Given the description of an element on the screen output the (x, y) to click on. 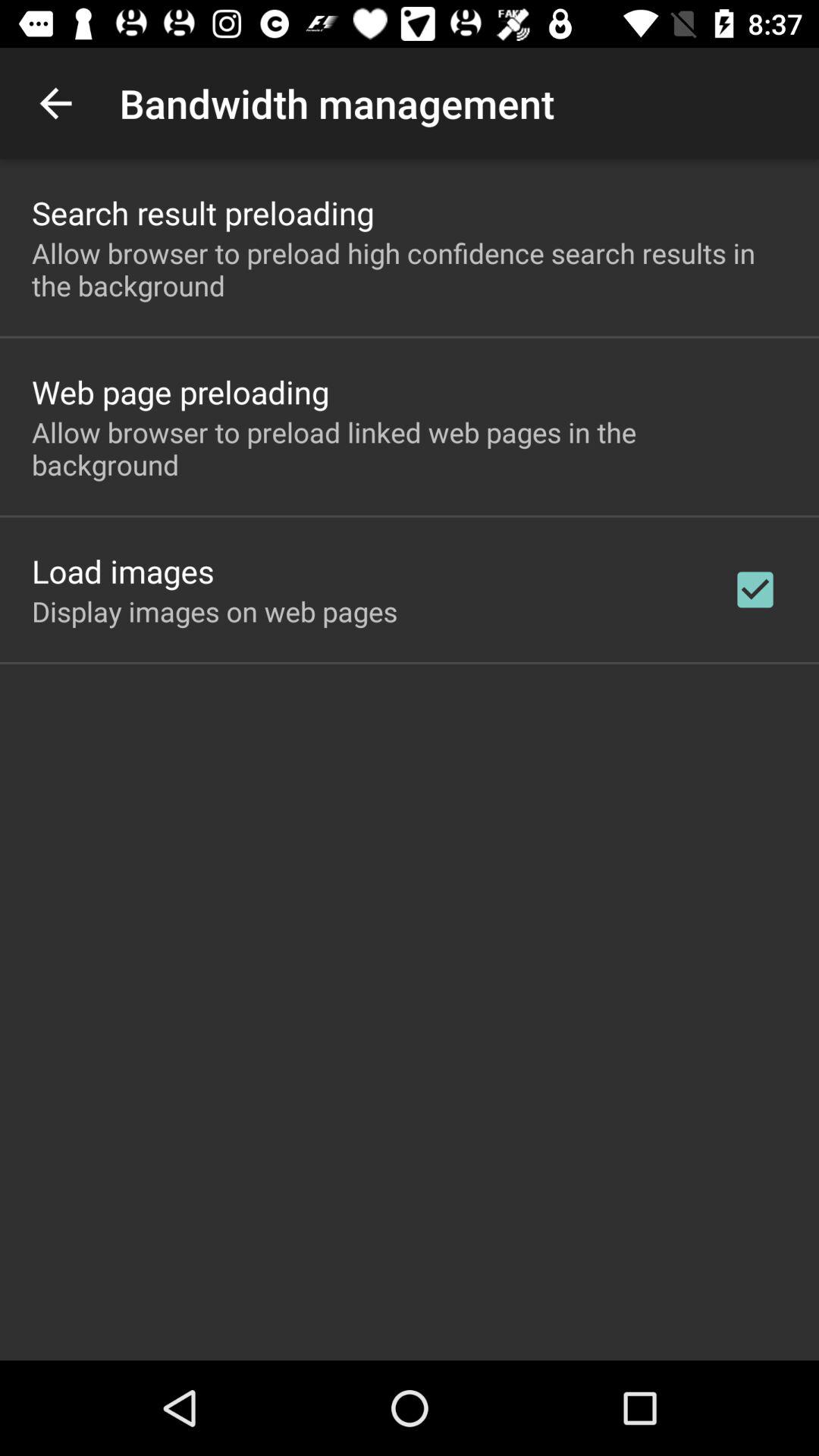
press the app above the search result preloading icon (55, 103)
